Given the description of an element on the screen output the (x, y) to click on. 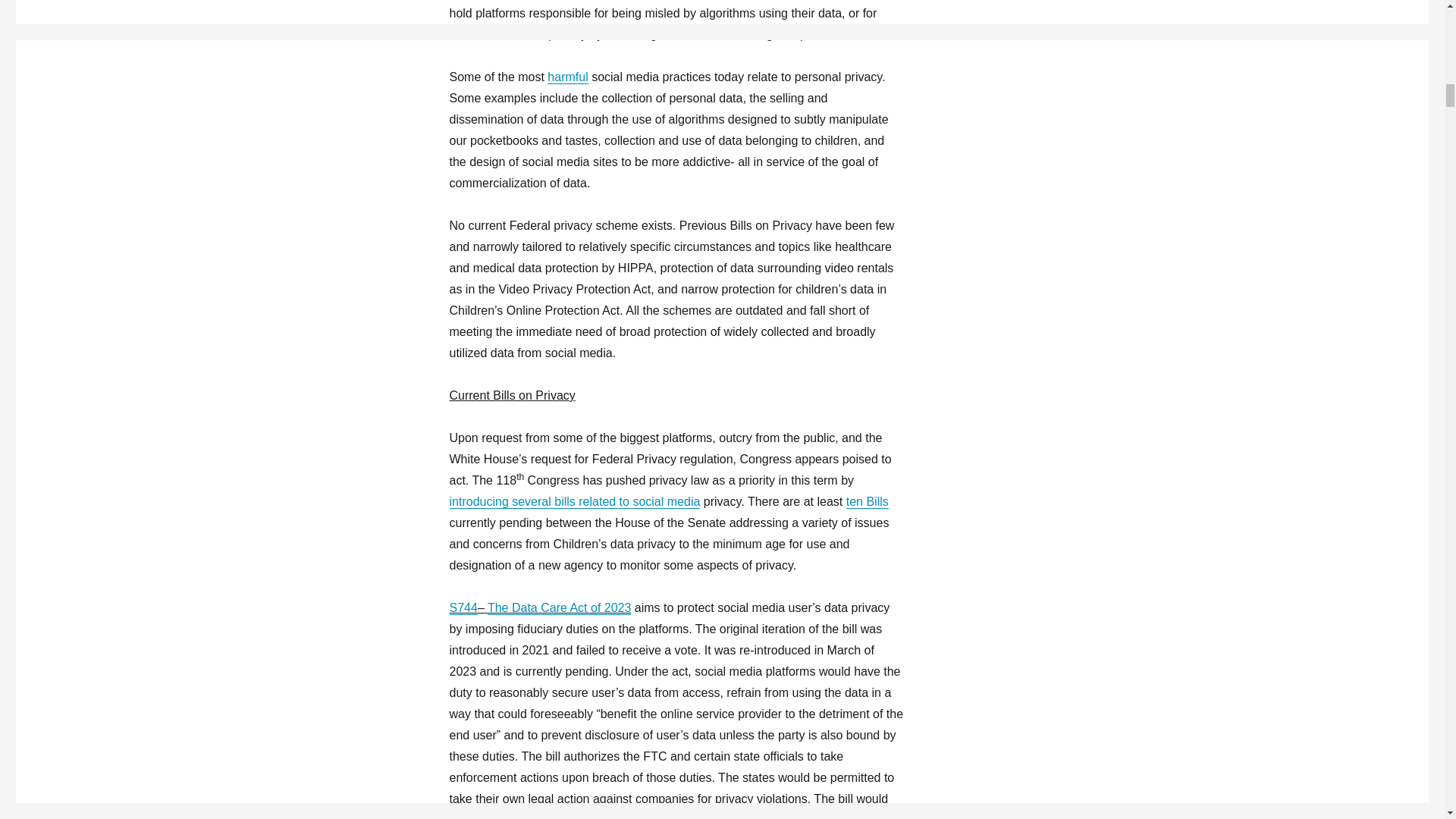
ten Bills (866, 501)
harmful (567, 76)
The Data Care Act of 2023 (558, 607)
introducing several bills related to social media (574, 501)
S744 (462, 607)
